Given the description of an element on the screen output the (x, y) to click on. 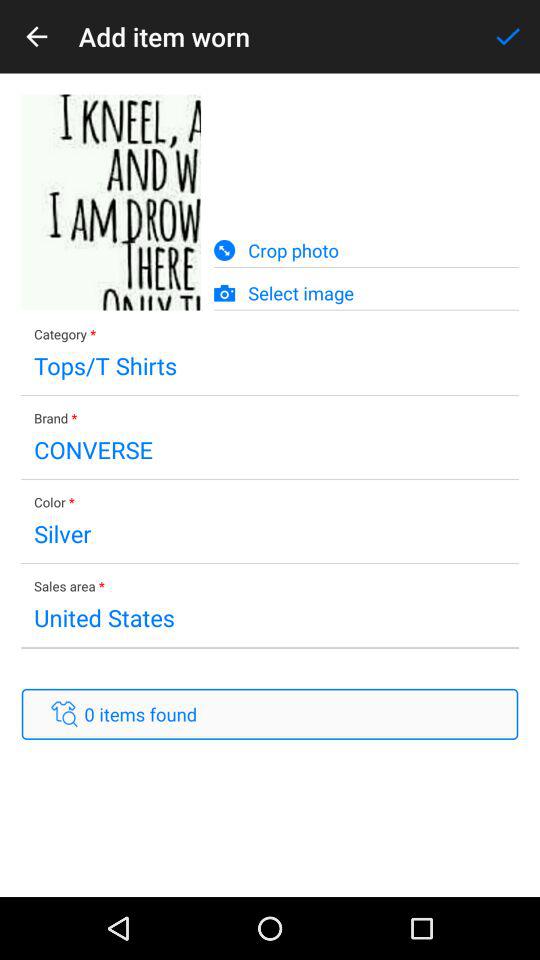
click item next to add item worn item (508, 36)
